Given the description of an element on the screen output the (x, y) to click on. 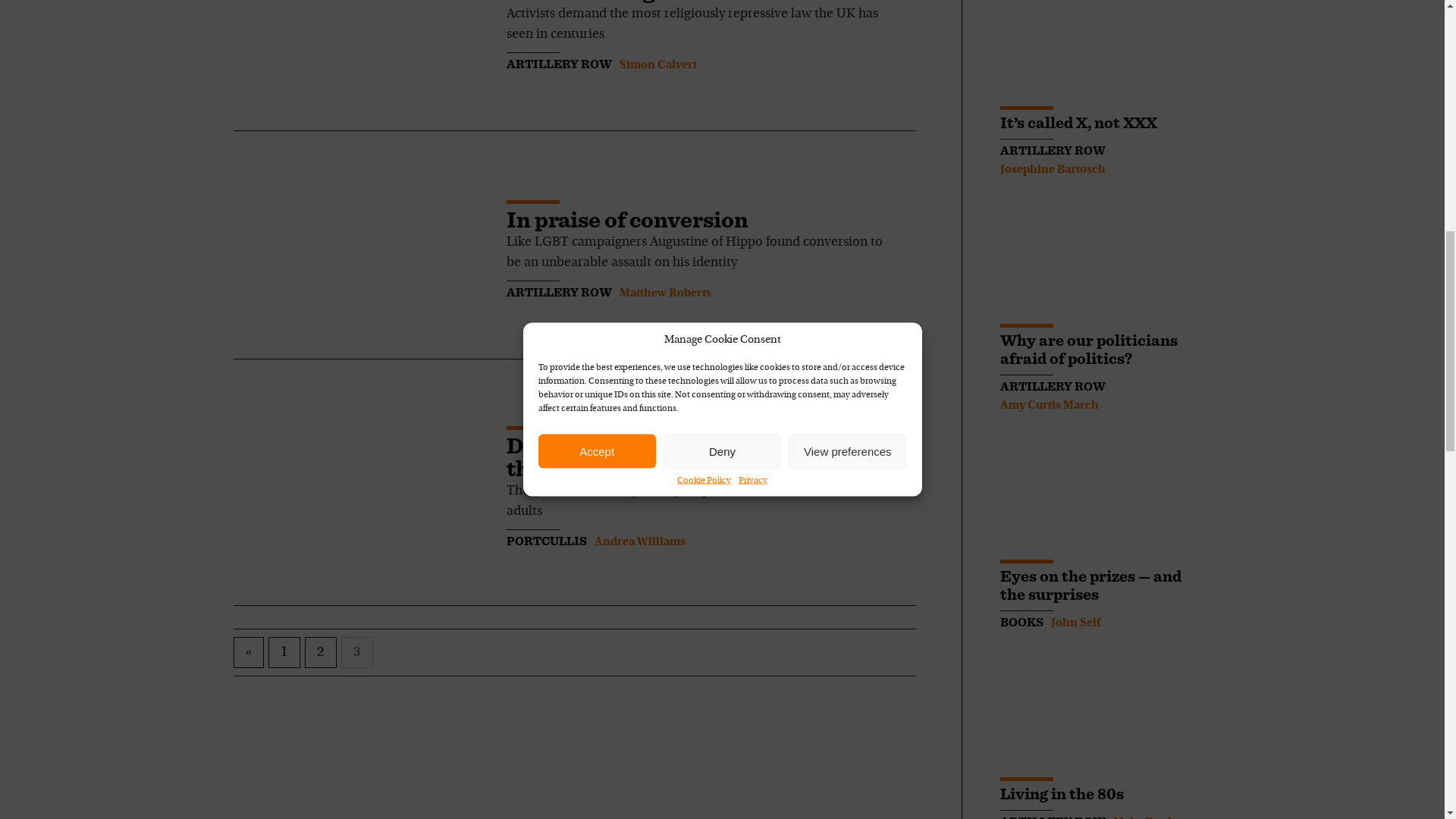
Posts by Matthew Roberts (664, 293)
Criminalising Christians (638, 2)
Posts by Amy Curtis March (1047, 405)
Posts by Josephine Bartosch (1051, 169)
Posts by Simon Calvert (656, 64)
Posts by John Self (1075, 623)
Posts by Myke Bartlett (1149, 817)
Posts by Andrea Williams (639, 541)
ARTILLERY ROW (558, 63)
